Given the description of an element on the screen output the (x, y) to click on. 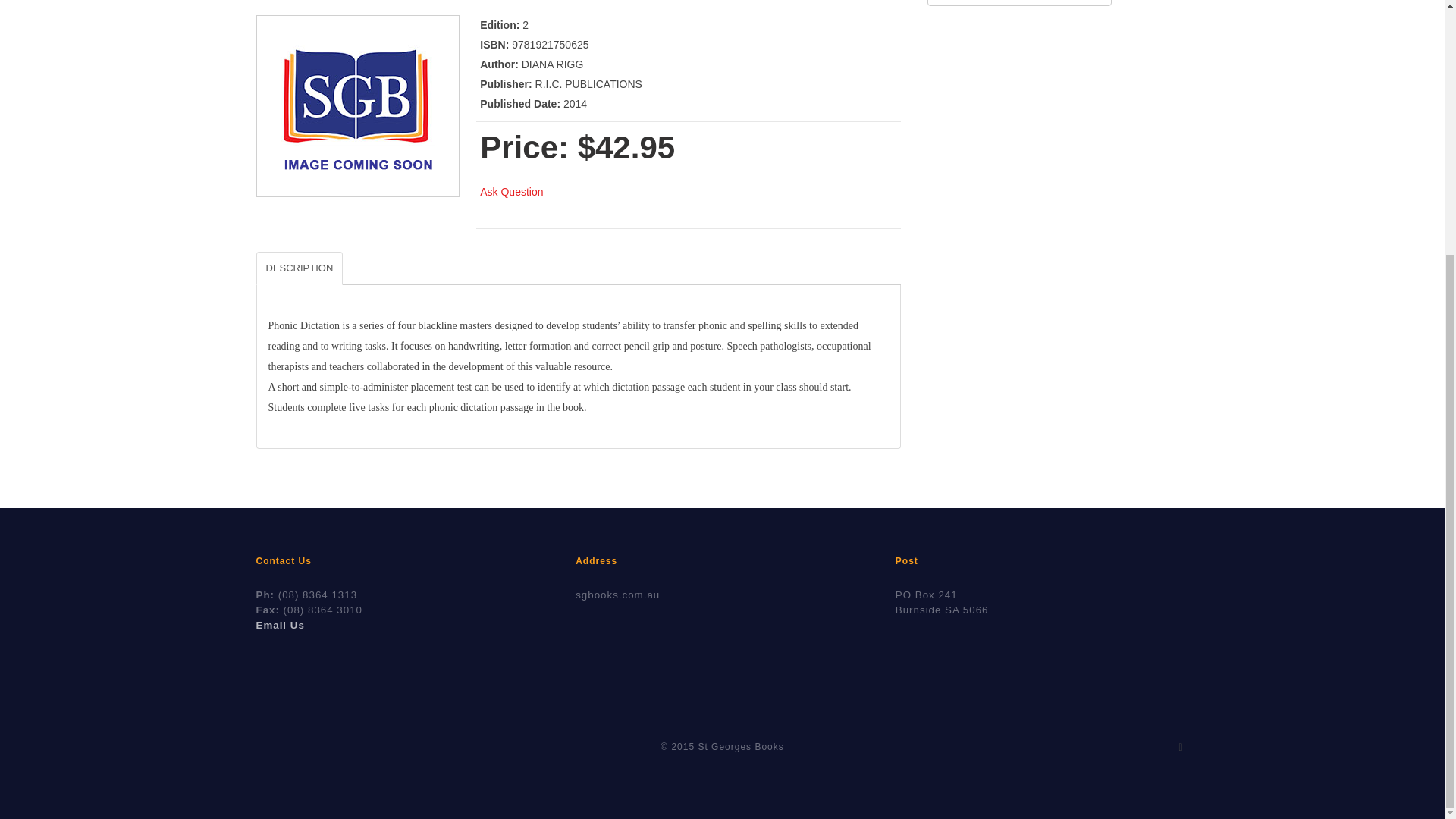
Ask Question (511, 191)
DESCRIPTION (299, 268)
Email Us (280, 624)
SEARCH (969, 2)
RESET ALL (1061, 2)
